Given the description of an element on the screen output the (x, y) to click on. 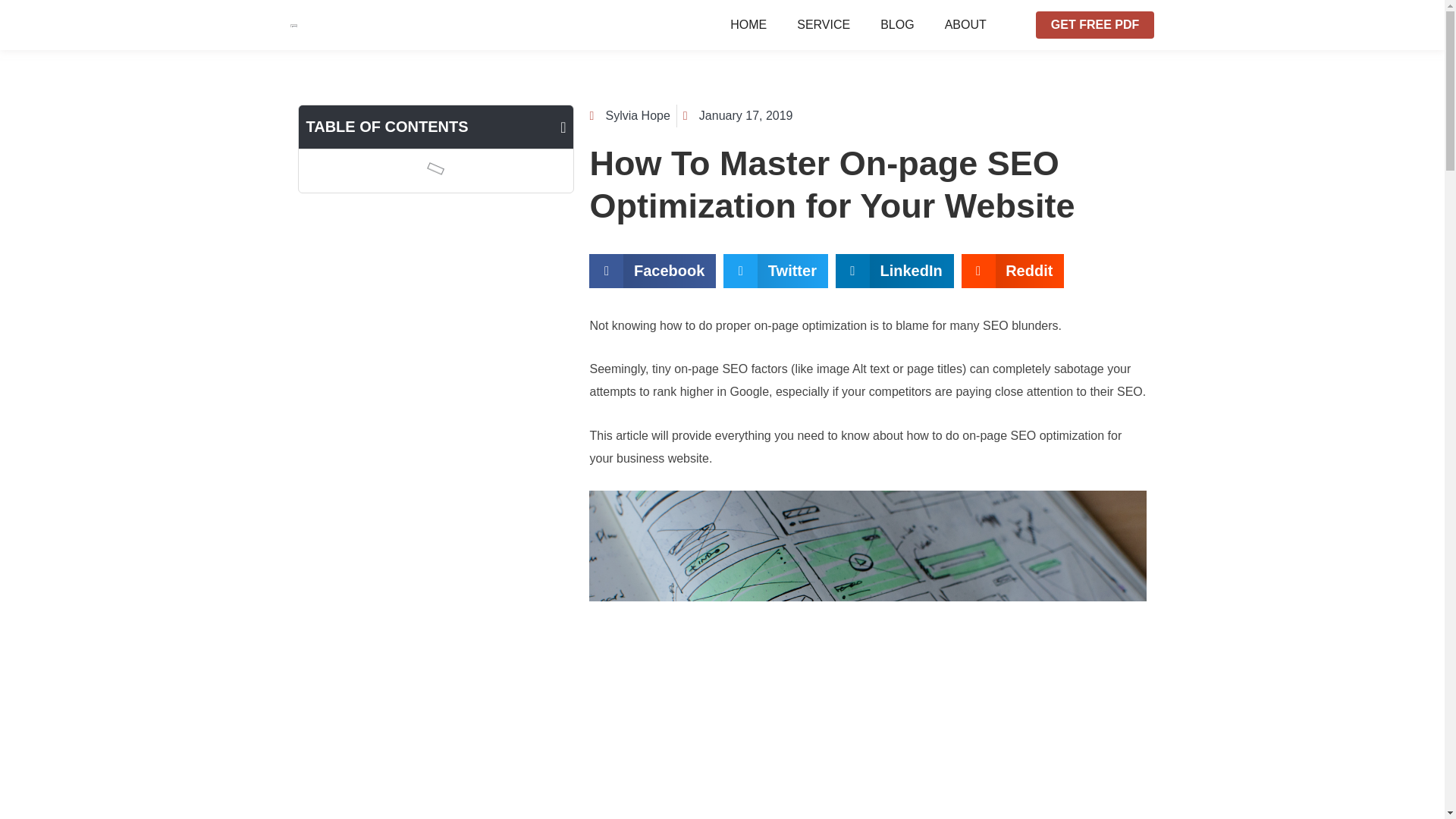
HOME (747, 24)
SERVICE (822, 24)
GET FREE PDF (1094, 24)
Sylvia Hope (629, 115)
ABOUT (965, 24)
BLOG (896, 24)
January 17, 2019 (737, 115)
